Given the description of an element on the screen output the (x, y) to click on. 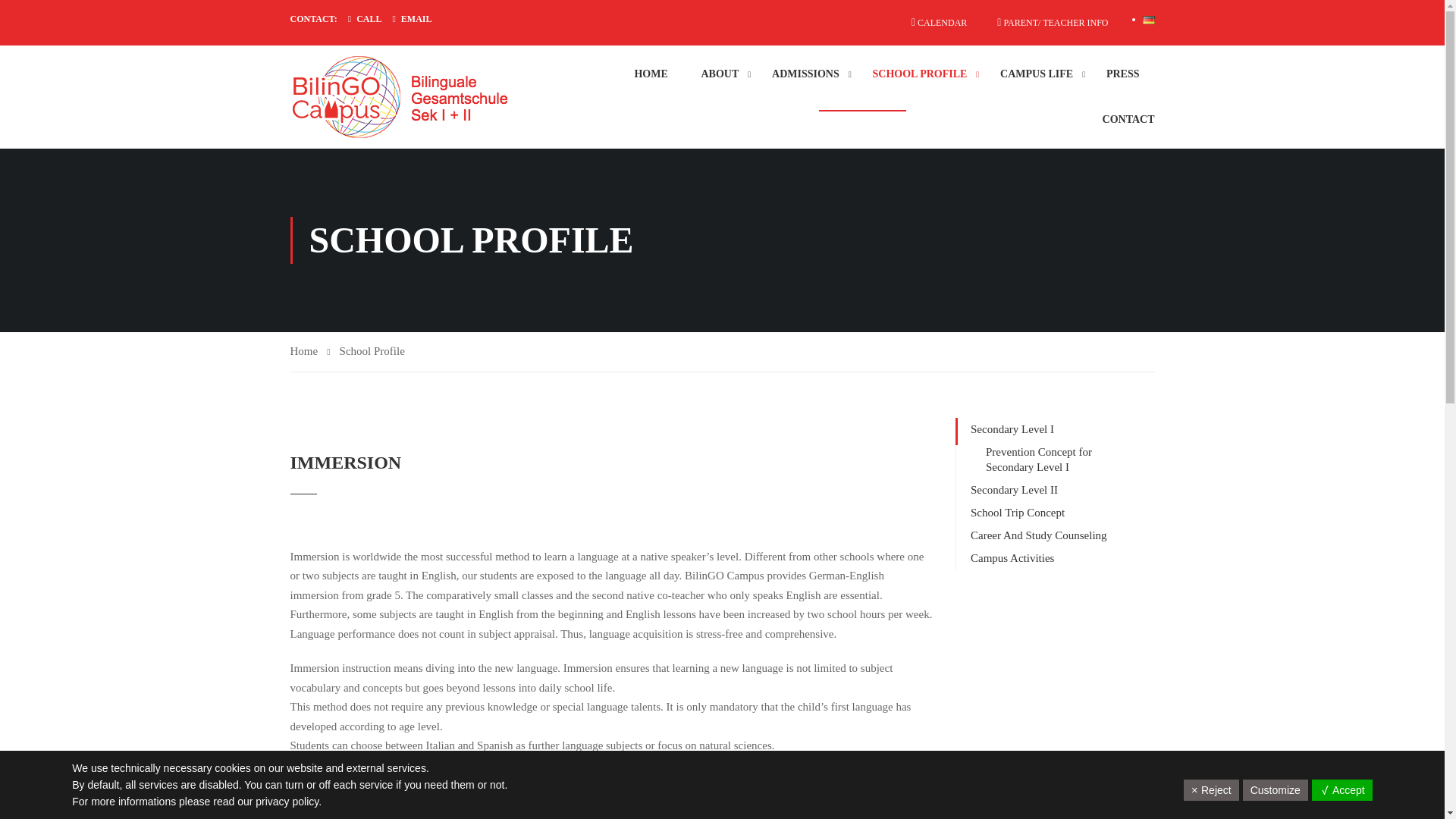
ADMISSIONS (805, 74)
SCHOOL PROFILE (919, 74)
BilinGO Campus - Bilingual Education In The Heart Of Cologne (421, 96)
HOME (650, 74)
CALENDAR (938, 22)
CALL (368, 18)
EMAIL (416, 18)
ABOUT (719, 74)
